Given the description of an element on the screen output the (x, y) to click on. 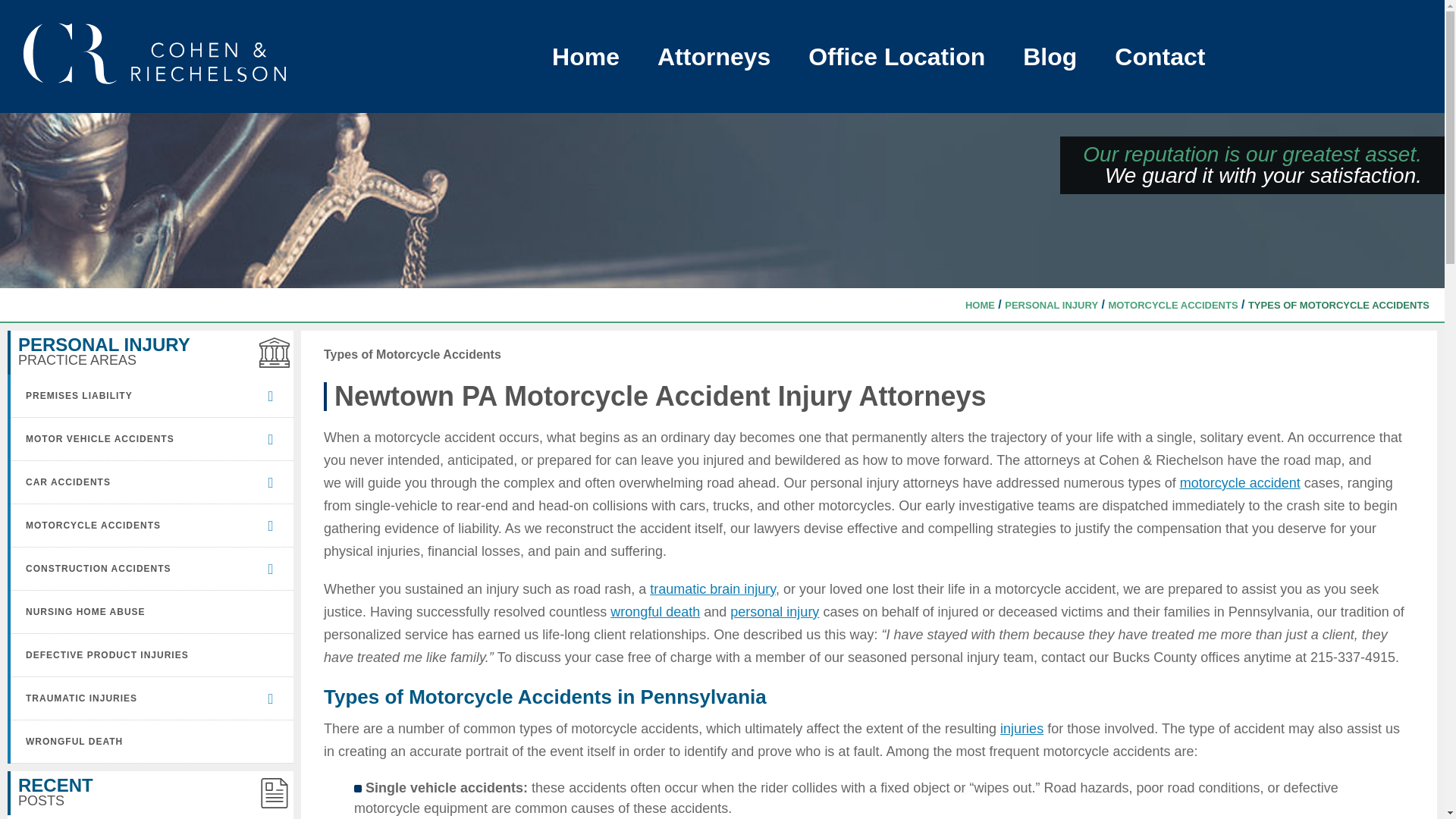
Office Location (896, 56)
PERSONAL INJURY (1050, 305)
HOME (979, 305)
Blog (1050, 56)
CAR ACCIDENTS (137, 482)
PREMISES LIABILITY (137, 395)
Contact (1160, 56)
Home (585, 56)
MOTOR VEHICLE ACCIDENTS (137, 438)
Attorneys (714, 56)
